Given the description of an element on the screen output the (x, y) to click on. 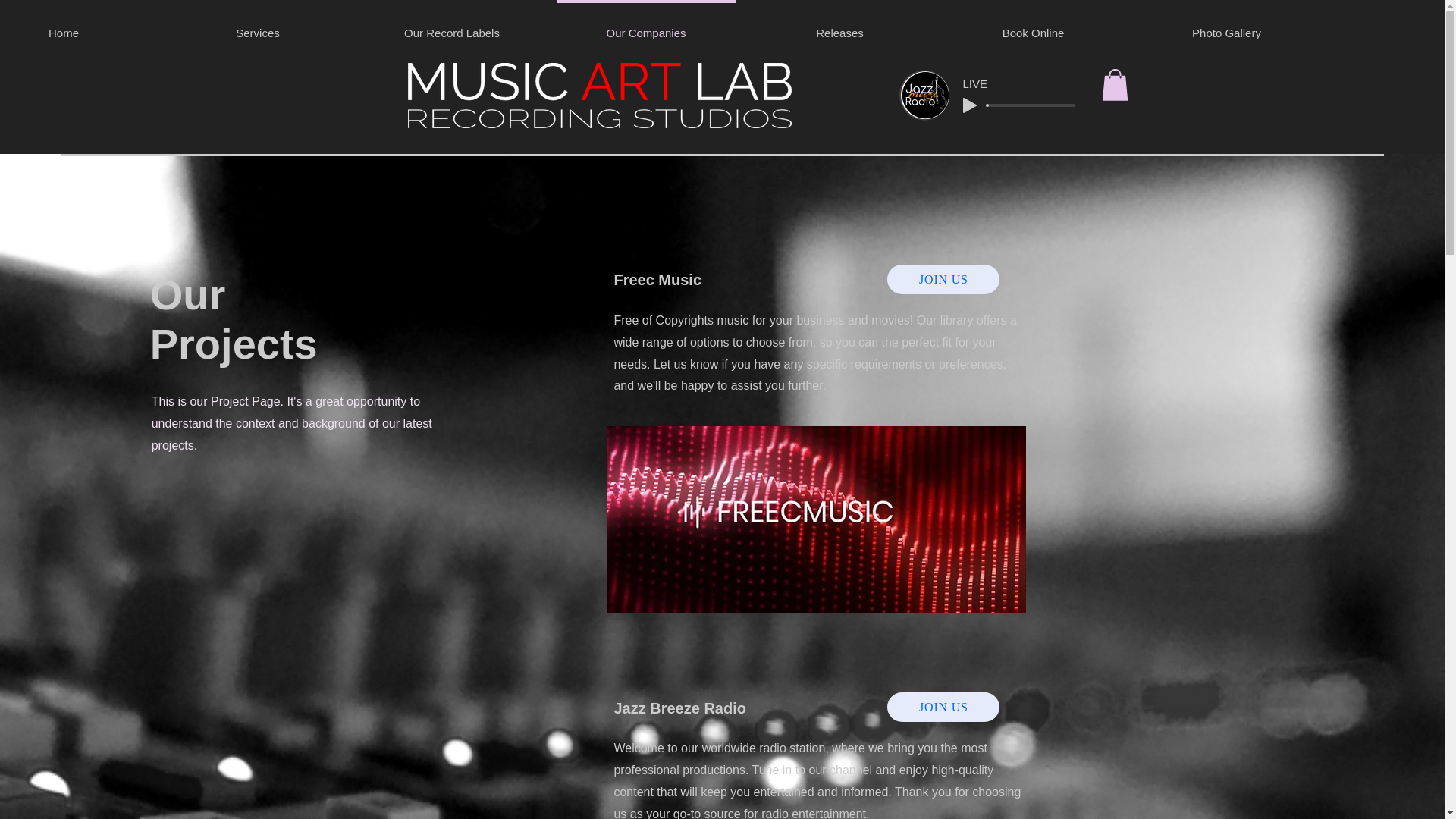
Our Record Labels (451, 26)
Home (80, 26)
0 (1031, 105)
Book Online (1032, 26)
JOIN US (942, 279)
Our Companies (645, 26)
Releases (839, 26)
Services (257, 26)
JOIN US (942, 706)
Photo Gallery (1226, 26)
